Given the description of an element on the screen output the (x, y) to click on. 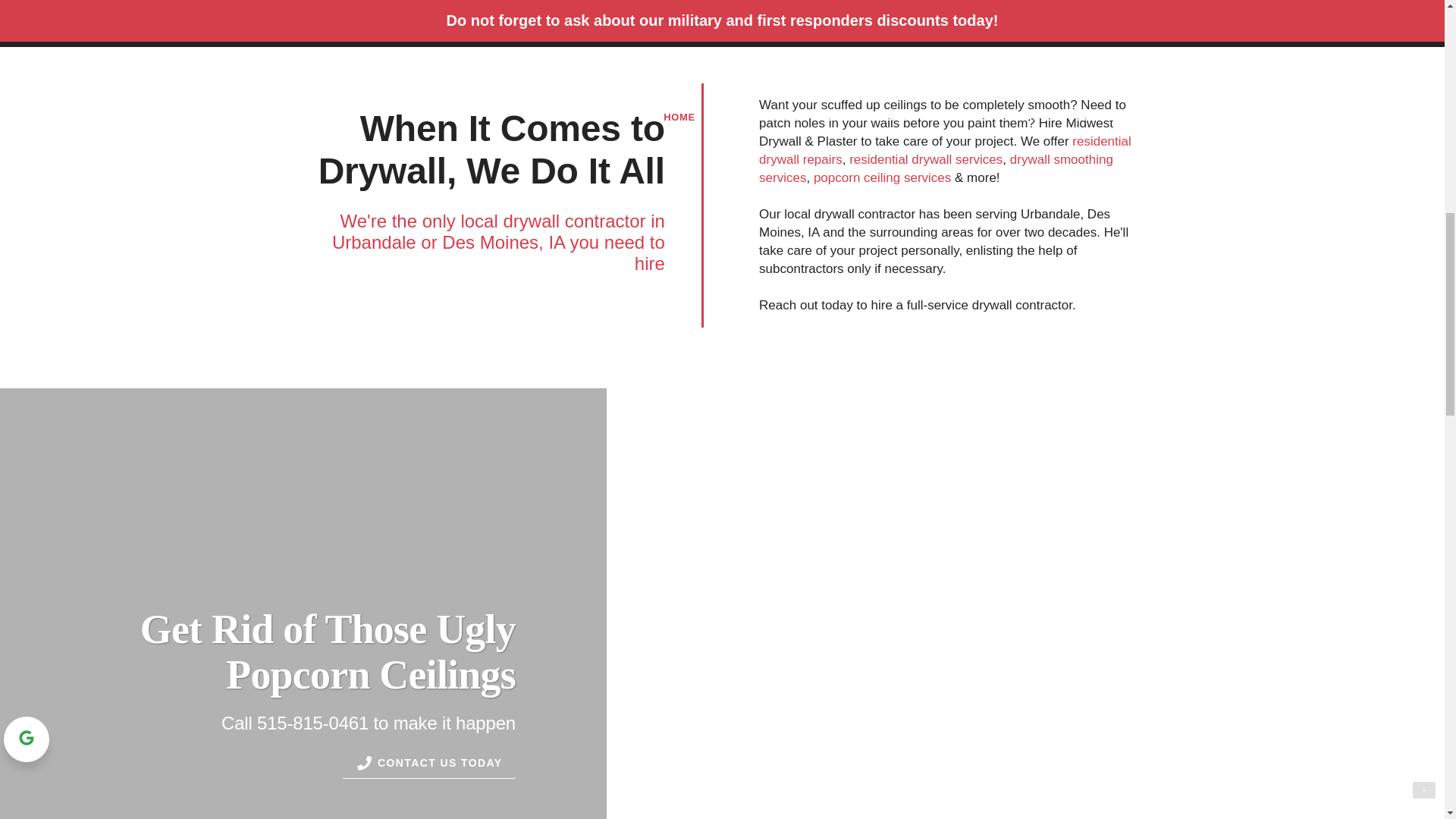
residential drywall repairs (944, 150)
popcorn ceiling services (881, 177)
residential drywall services (925, 159)
drywall smoothing services (935, 168)
